Given the description of an element on the screen output the (x, y) to click on. 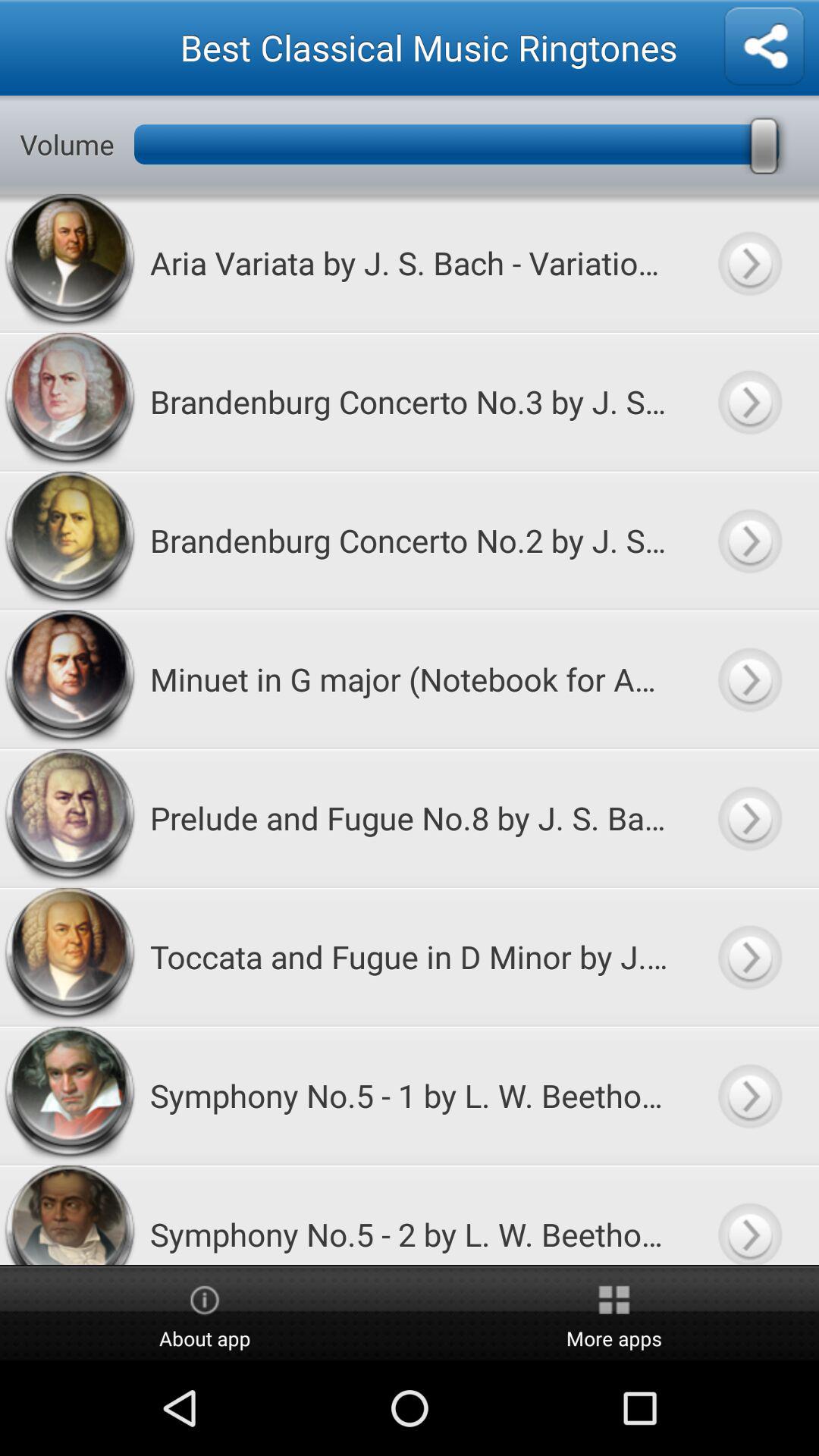
listen to audio (749, 1214)
